Given the description of an element on the screen output the (x, y) to click on. 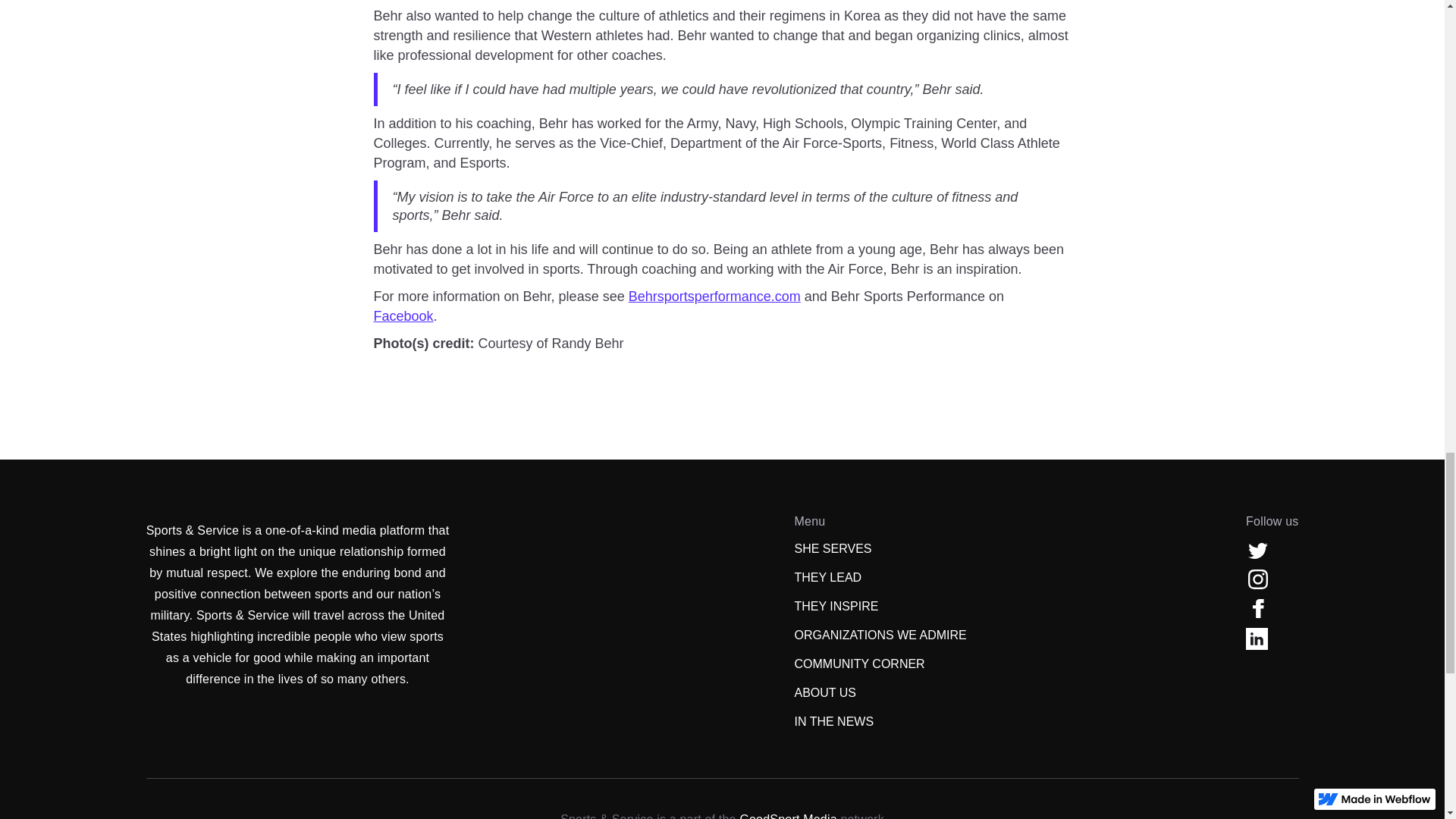
GoodSport Media (787, 816)
Behrsportsperformance.com (714, 296)
ORGANIZATIONS WE ADMIRE (880, 635)
COMMUNITY CORNER (859, 663)
SHE SERVES (833, 548)
IN THE NEWS (834, 721)
Facebook (402, 315)
THEY INSPIRE (836, 606)
THEY LEAD (827, 577)
ABOUT US (825, 692)
